Given the description of an element on the screen output the (x, y) to click on. 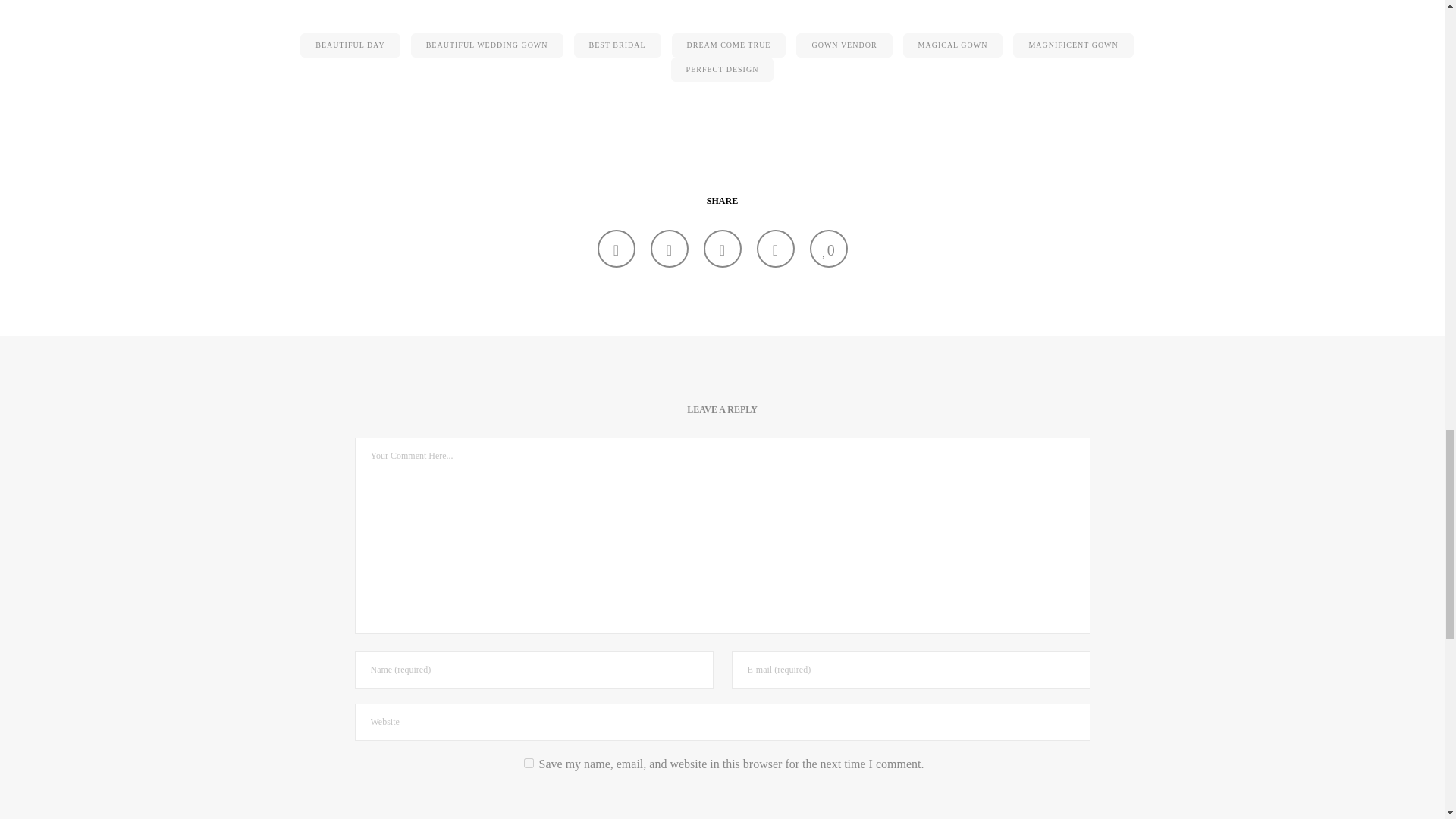
MAGICAL GOWN (615, 248)
MAGICAL GOWN (669, 248)
DREAM COME TRUE (728, 45)
PERFECT DESIGN (722, 69)
BEST BRIDAL (617, 45)
MAGICAL GOWN (952, 45)
0 (828, 248)
MAGICAL GOWN (722, 248)
MAGNIFICENT GOWN (1072, 45)
yes (529, 763)
MAGICAL GOWN (775, 248)
BEAUTIFUL WEDDING GOWN (486, 45)
GOWN VENDOR (843, 45)
BEAUTIFUL DAY (348, 45)
